Given the description of an element on the screen output the (x, y) to click on. 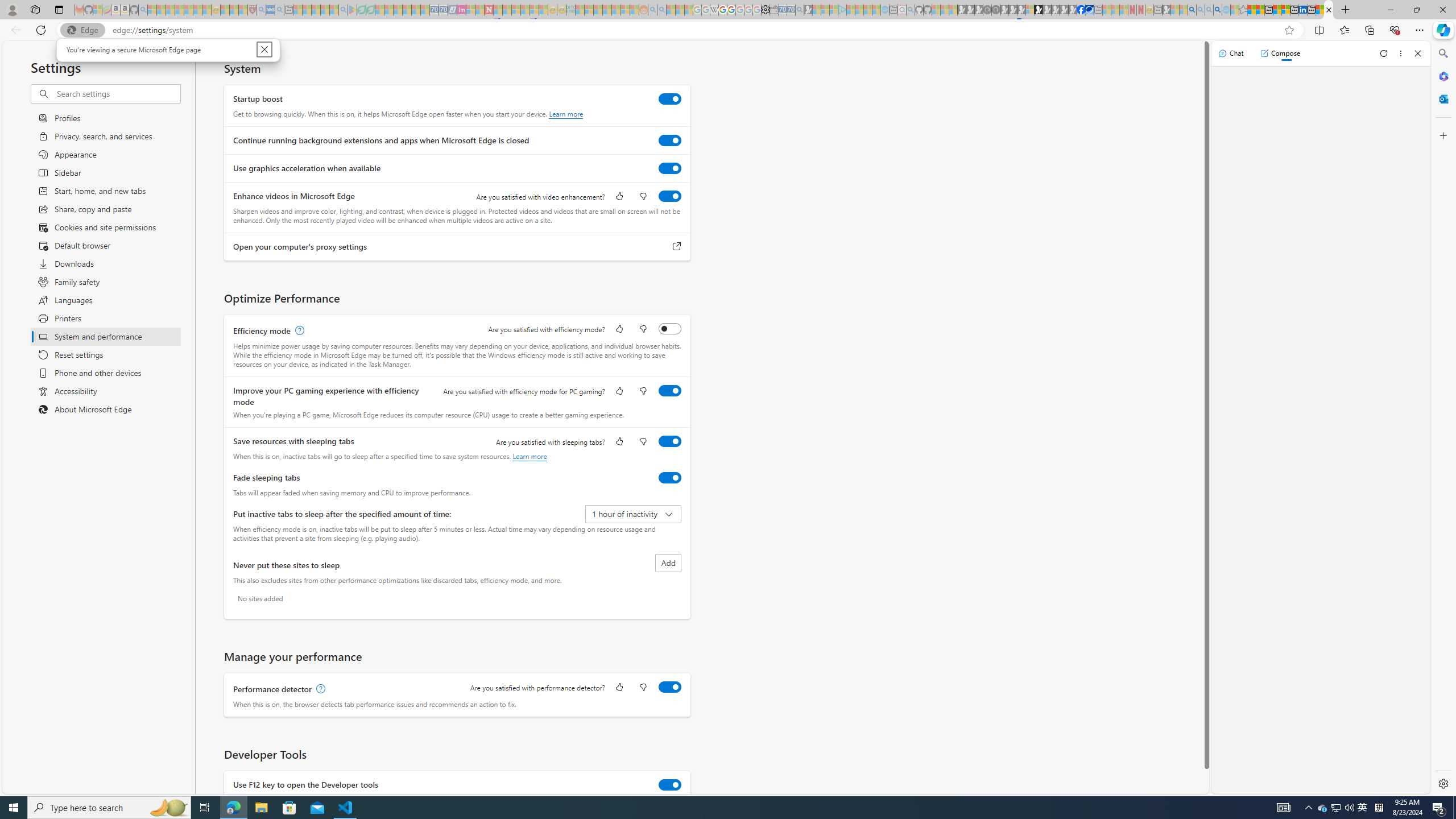
Notification Chevron (1308, 807)
Use graphics acceleration when available (669, 167)
github - Search - Sleeping (910, 9)
Chat (1230, 52)
Open your computer's proxy settings (676, 246)
